Given the description of an element on the screen output the (x, y) to click on. 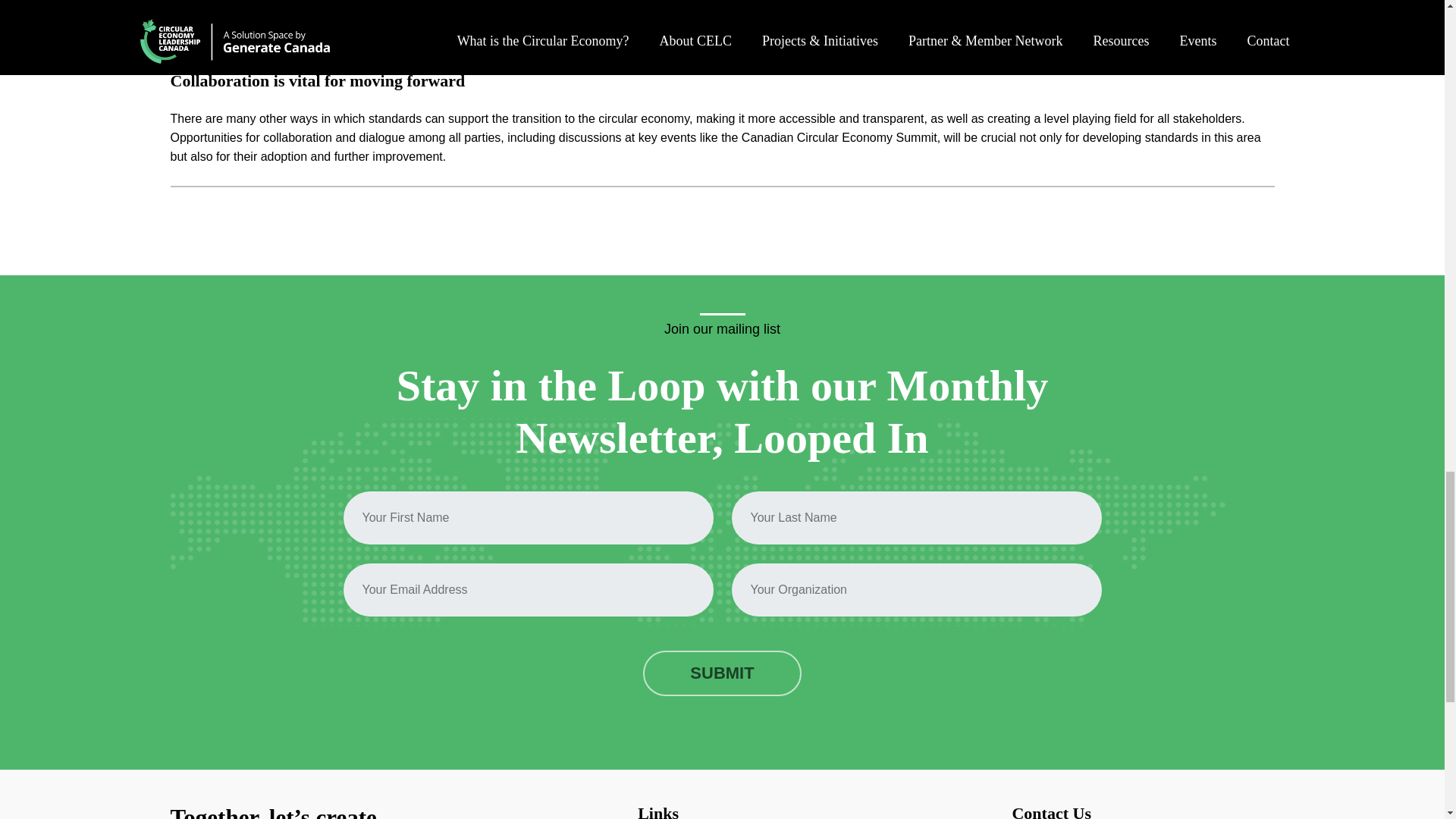
Submit (721, 673)
Submit (721, 673)
circularity and recycling of lithium-ion batteries (488, 22)
